Given the description of an element on the screen output the (x, y) to click on. 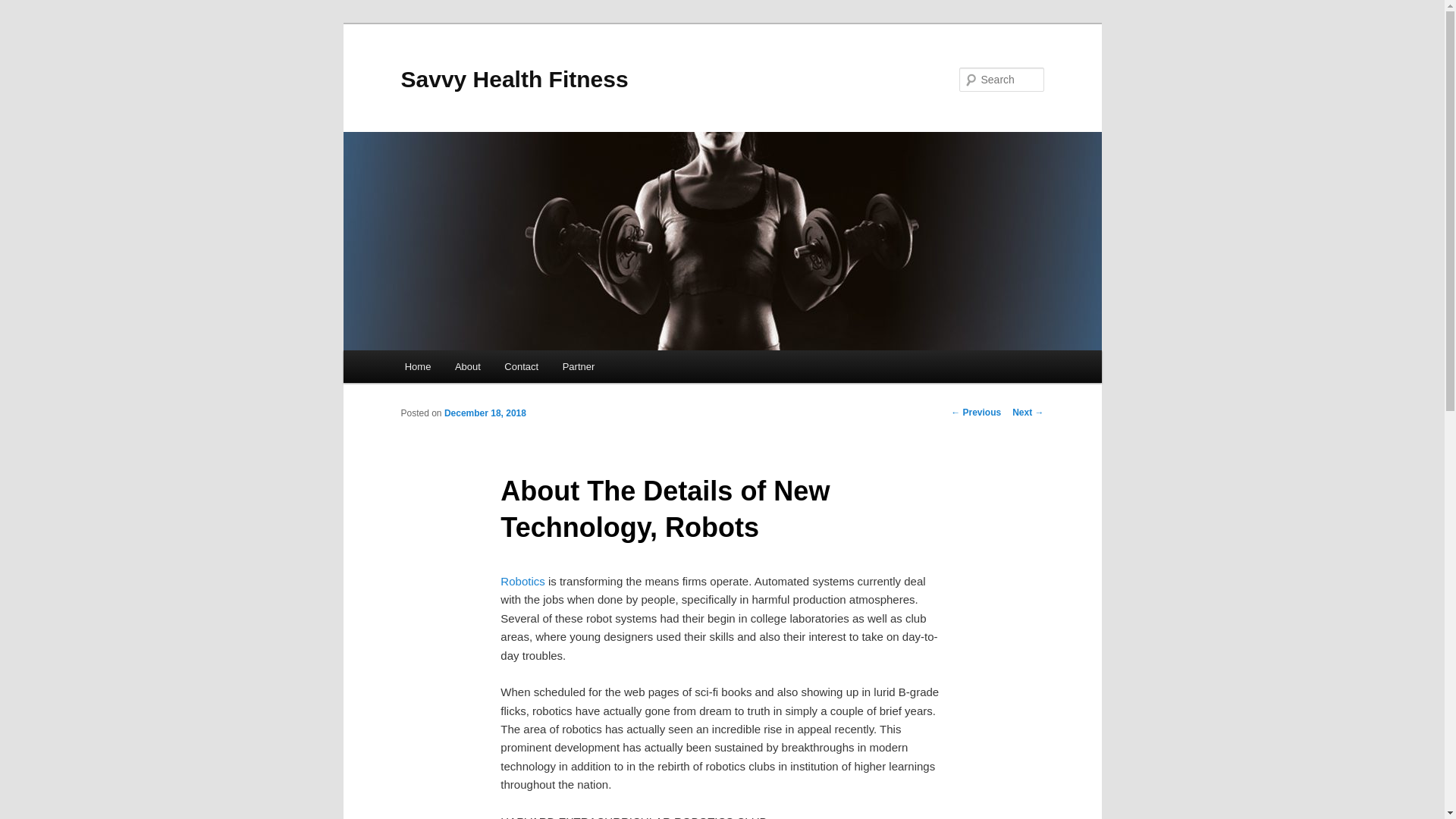
December 18, 2018 (484, 412)
11:40 am (484, 412)
Savvy Health Fitness (513, 78)
Robotics (522, 581)
Home (417, 366)
Contact (521, 366)
Partner (578, 366)
About (467, 366)
Search (24, 8)
